Given the description of an element on the screen output the (x, y) to click on. 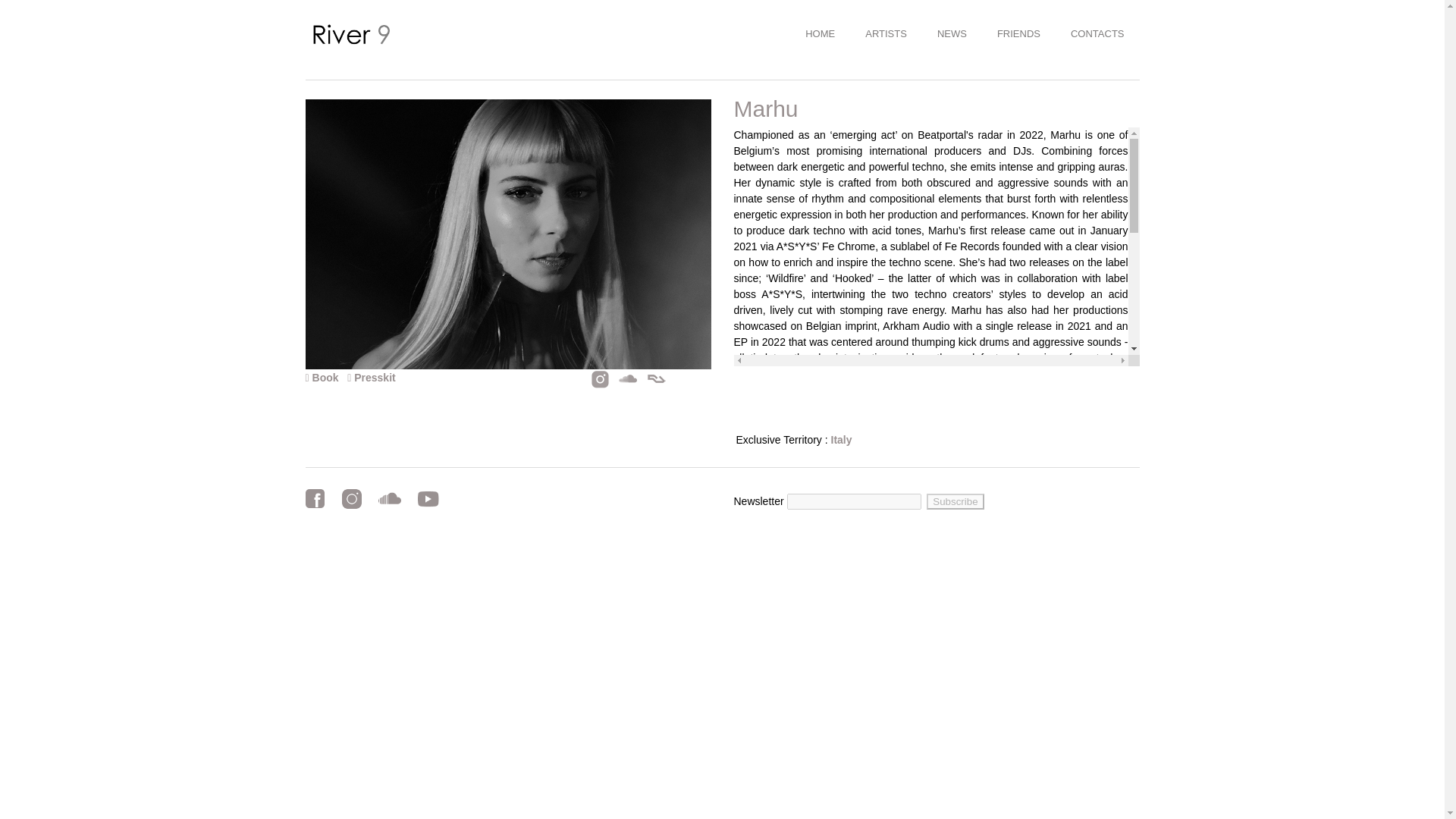
FRIENDS (1018, 33)
Subscribe (955, 501)
CONTACTS (1097, 33)
Presskit (368, 377)
Subscribe (955, 501)
NEWS (951, 33)
ARTISTS (885, 33)
HOME (820, 33)
Book (322, 377)
